Given the description of an element on the screen output the (x, y) to click on. 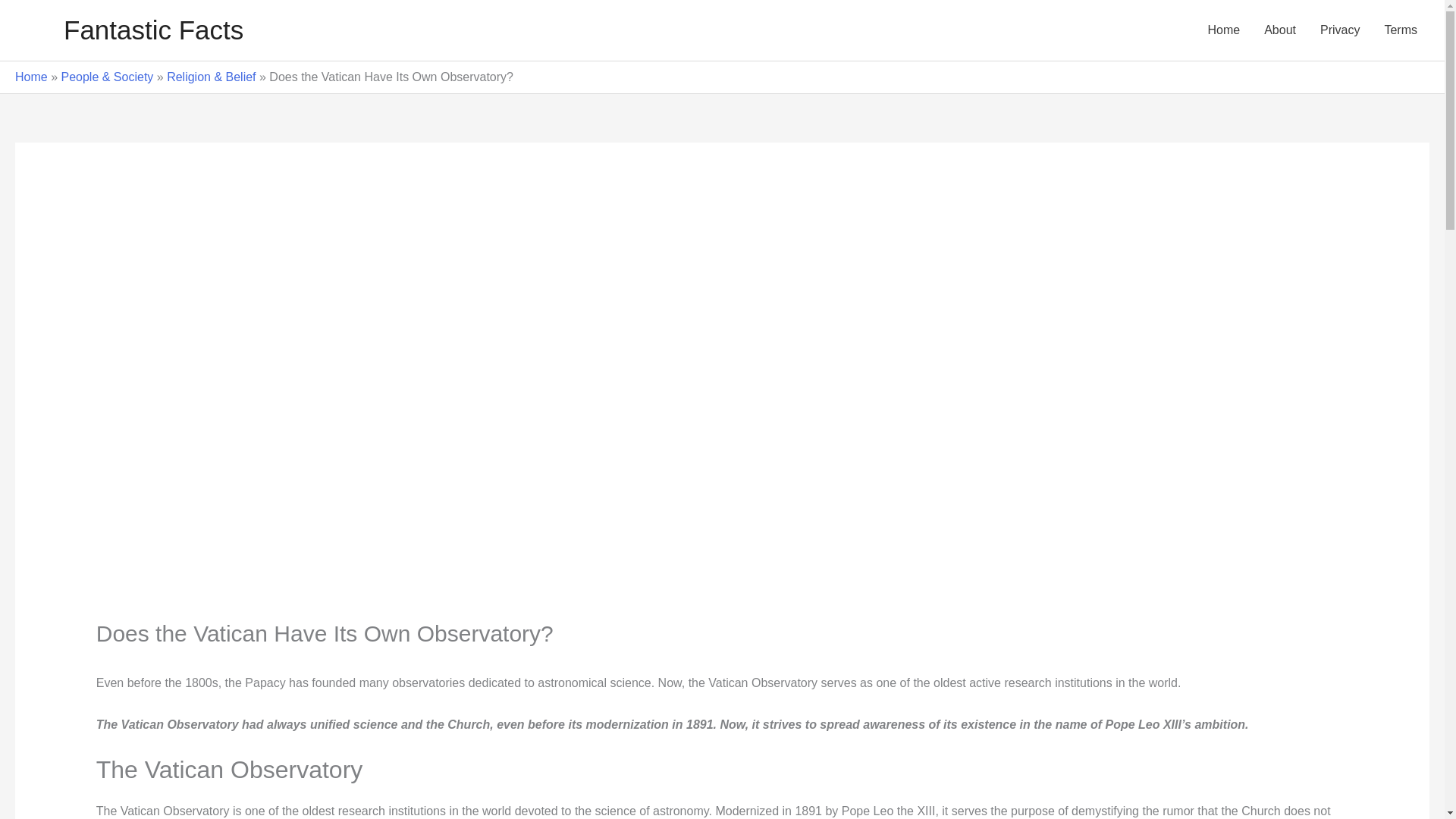
Fantastic Facts (153, 30)
About (1279, 30)
Home (1223, 30)
Privacy (1339, 30)
Terms (1400, 30)
Home (31, 76)
